Given the description of an element on the screen output the (x, y) to click on. 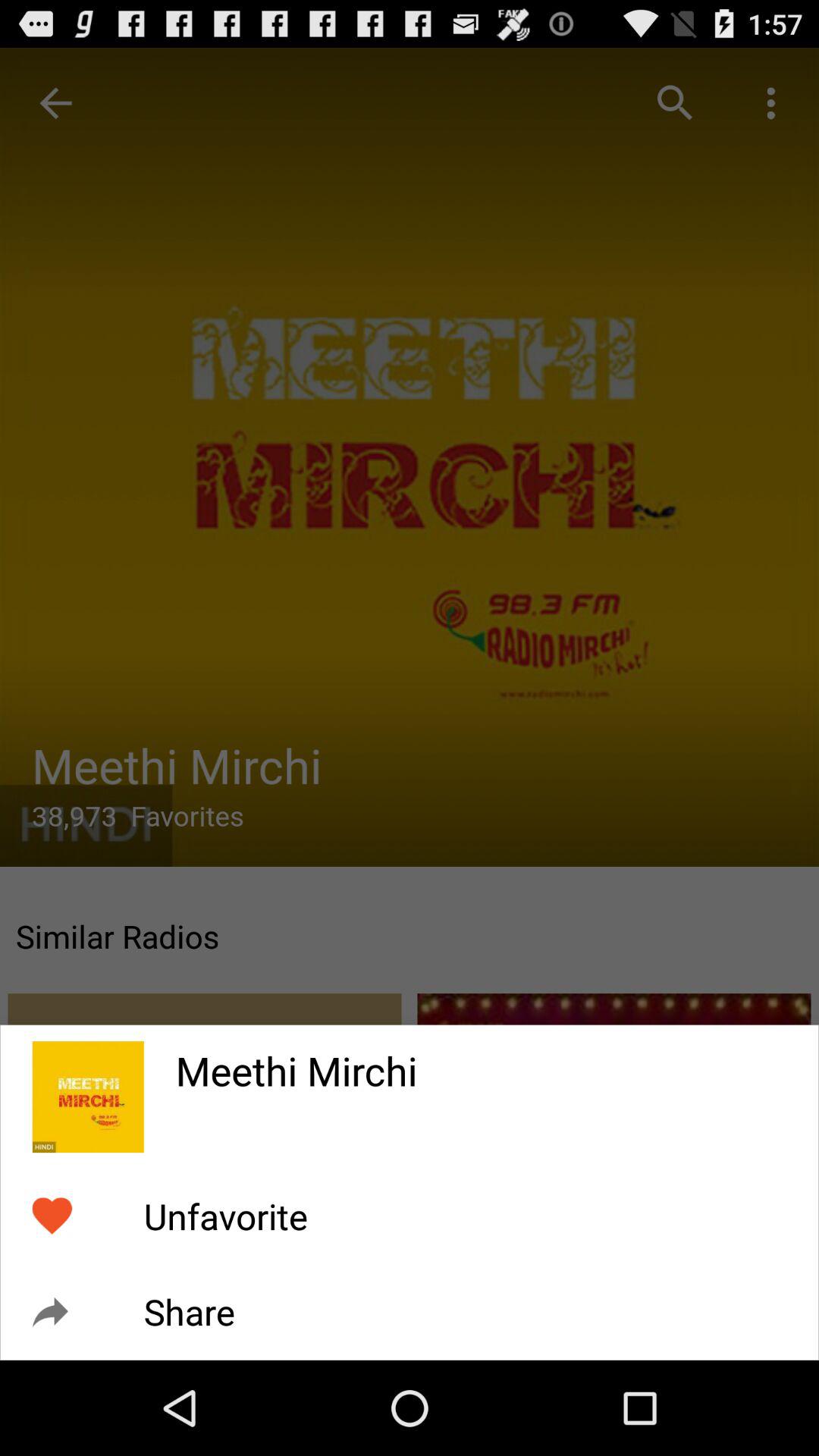
click meethi mirchi (480, 1061)
